Given the description of an element on the screen output the (x, y) to click on. 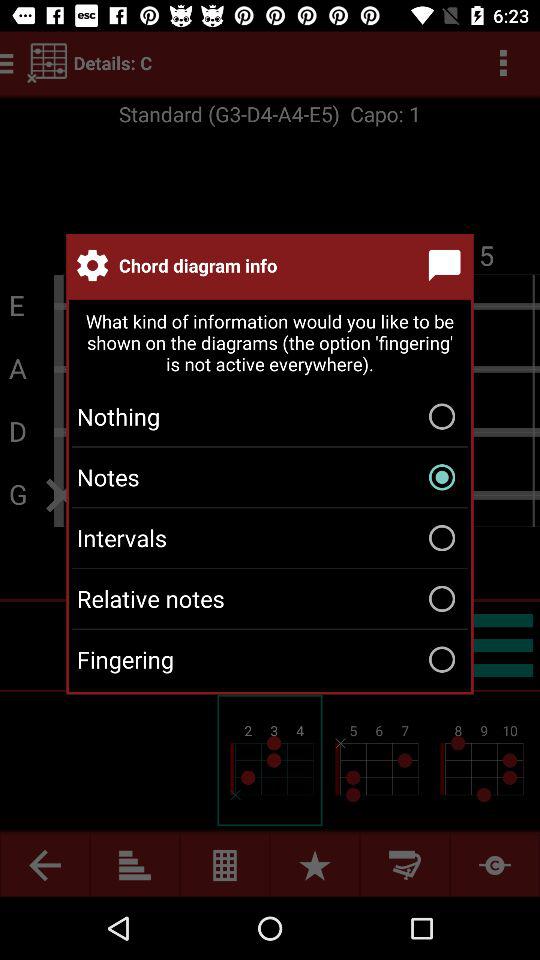
click the item above the fingering (269, 598)
